Given the description of an element on the screen output the (x, y) to click on. 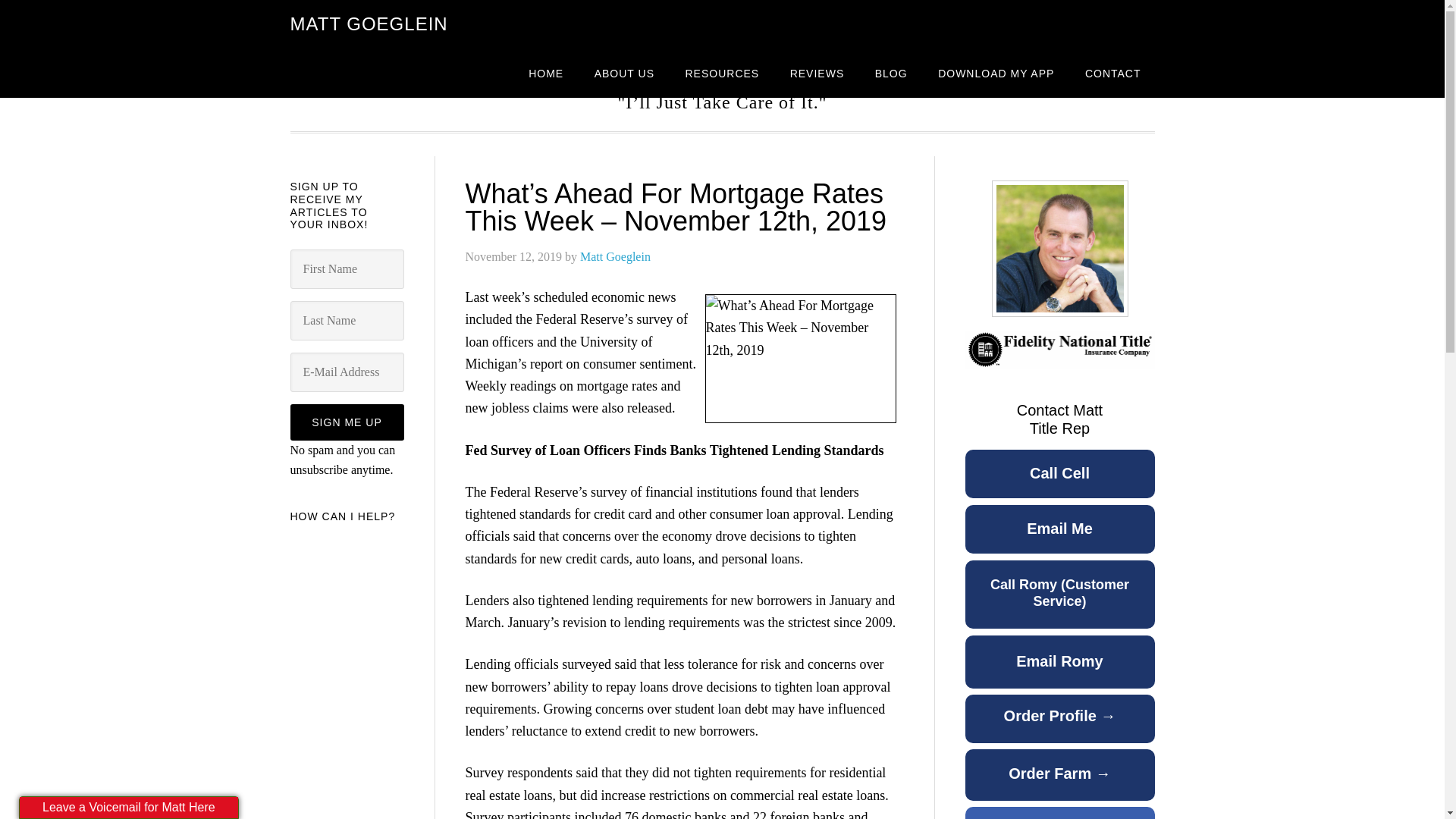
Sign Me Up (346, 422)
ABOUT US (624, 72)
HOME (545, 72)
Email Romy (1059, 669)
Leave a Voicemail for Matt Here (129, 807)
CONTACT (1112, 72)
DOWNLOAD MY APP (995, 72)
MATT GOEGLEIN (367, 23)
Sign Me Up (346, 422)
Call Cell (1059, 482)
